Given the description of an element on the screen output the (x, y) to click on. 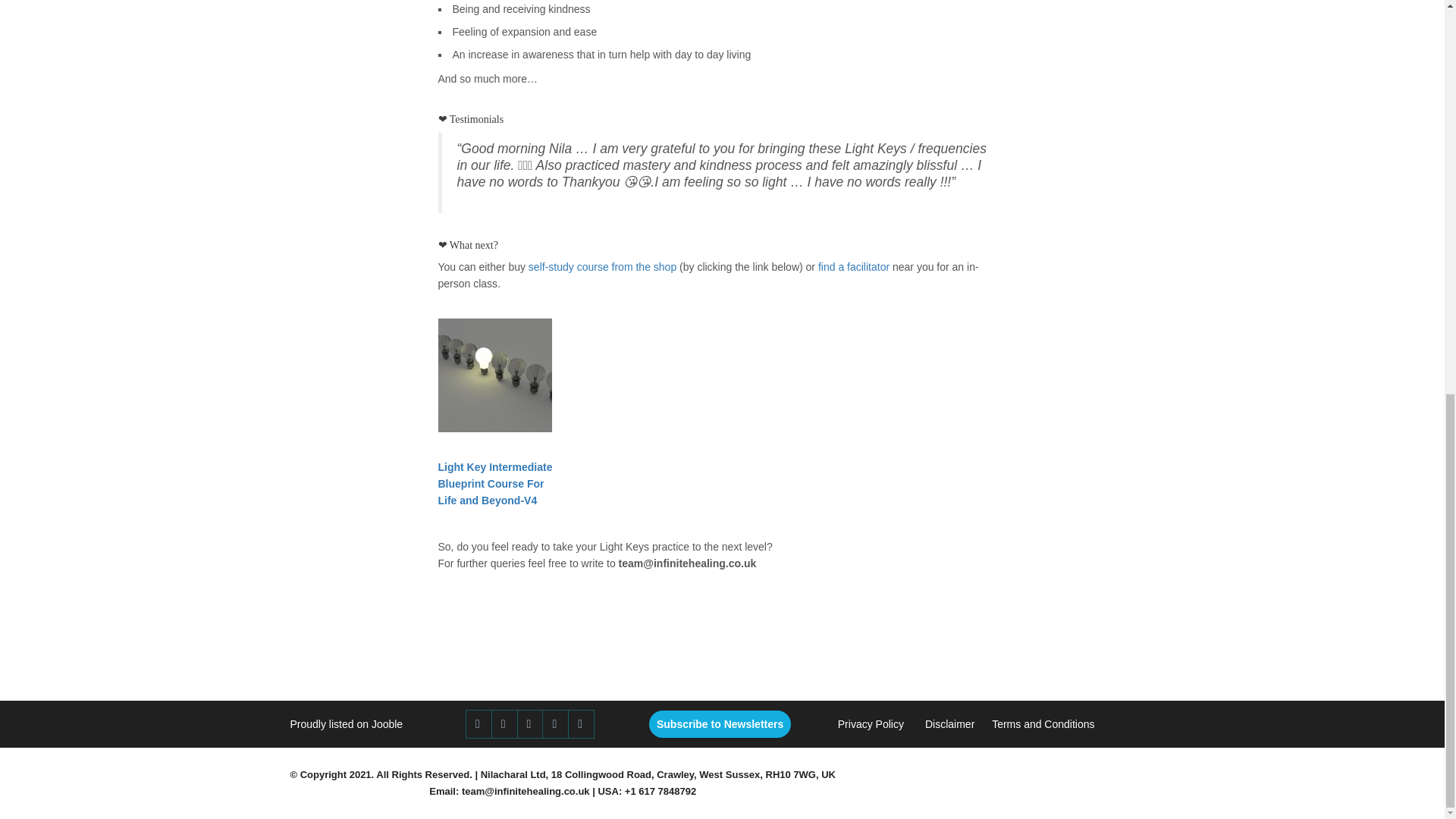
pinterest (530, 724)
facebook (478, 724)
youtube (581, 724)
linkedin (556, 724)
twitter (505, 724)
